Given the description of an element on the screen output the (x, y) to click on. 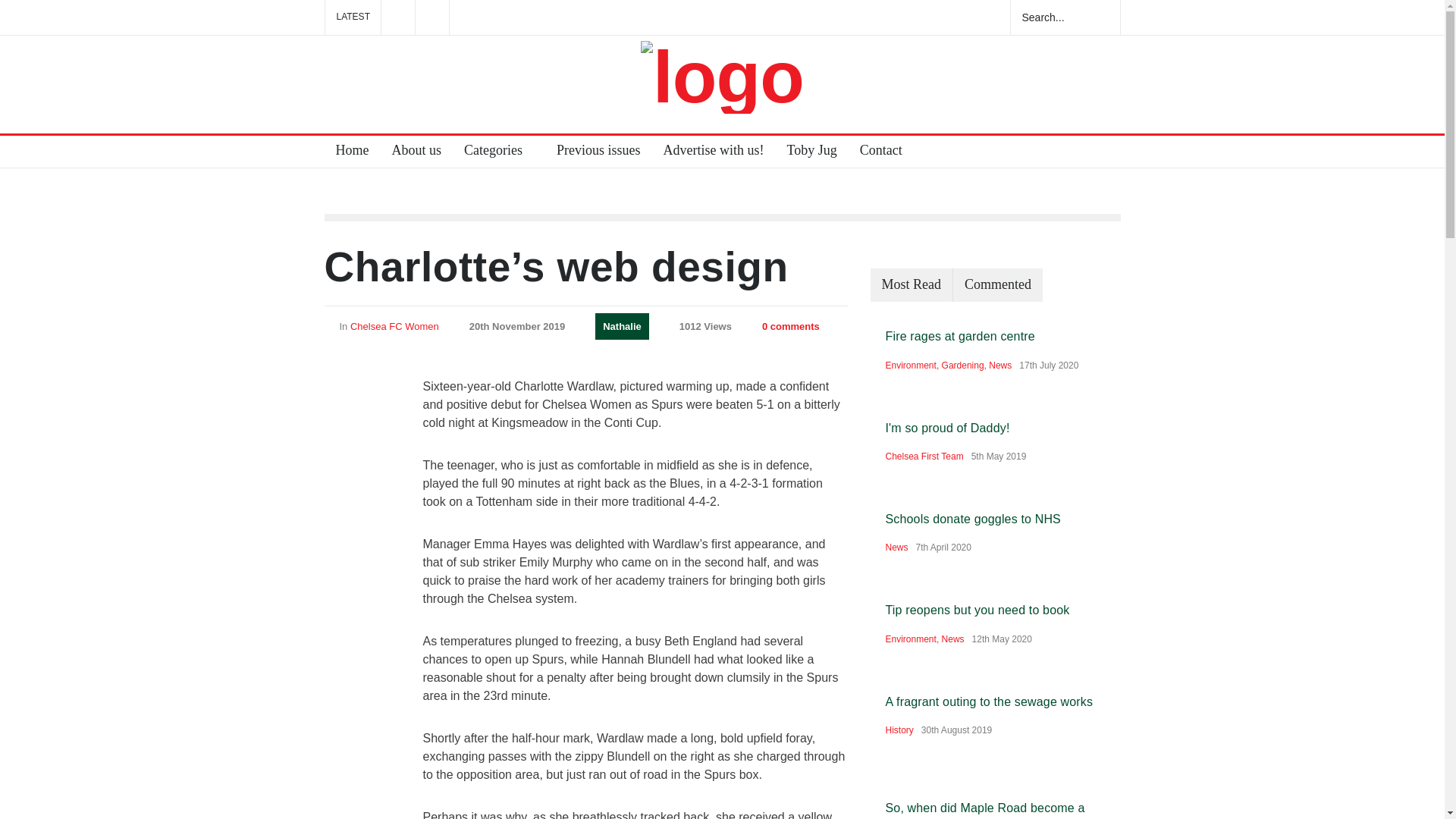
Previous issues (592, 151)
The Good Life (721, 76)
Search... (1048, 17)
View all posts filed under Chelsea FC Women (394, 325)
0 comments (790, 325)
About us (411, 151)
0 comments (790, 325)
Advertise with us! (708, 151)
0 comments (782, 325)
Search... (1048, 17)
Nathalie (622, 325)
Chelsea FC Women (394, 325)
Contact (875, 151)
